Given the description of an element on the screen output the (x, y) to click on. 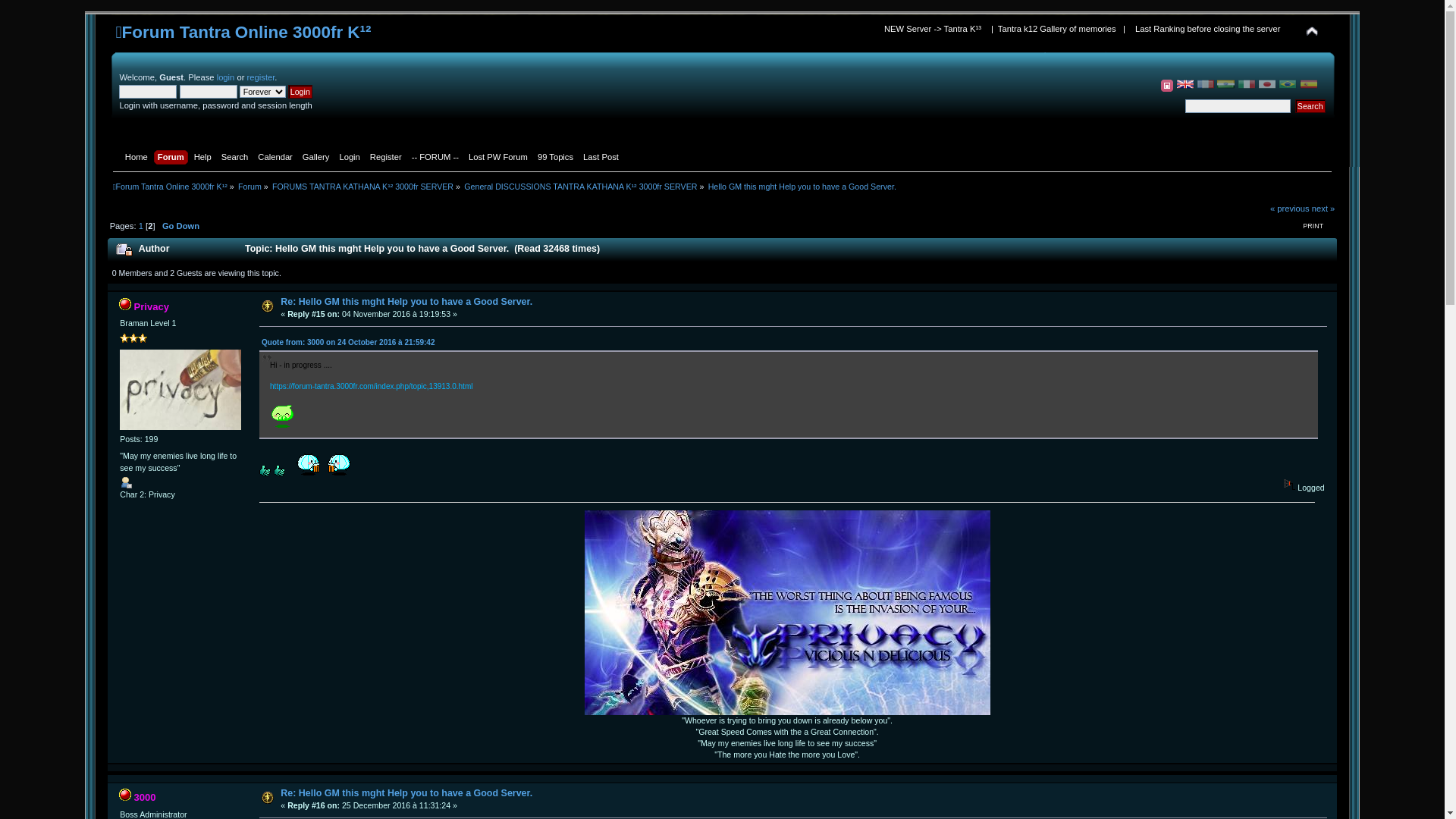
Japanese-utf8 Element type: text (1267, 84)
Calendar Element type: text (276, 158)
|  Tantra k12 Gallery of memories   | Element type: text (1060, 29)
Forum Element type: text (172, 158)
YES ~ OK  Element type: hover (279, 470)
99 Topics Element type: text (557, 158)
Lost PW Forum Element type: text (499, 158)
Indonesian-utf8 Element type: text (1226, 84)
Search Element type: text (1310, 105)
3000 Element type: text (144, 797)
1 Element type: text (140, 225)
Privacy Element type: text (151, 306)
Shrink or expand the header. Element type: hover (1311, 31)
Re: Hello GM this mght Help you to have a Good Server. Element type: text (406, 301)
register Element type: text (261, 76)
Portuguese Brazilian-utf8 Element type: text (1287, 84)
Italian-utf8 Element type: text (1246, 84)
French-utf8 Element type: text (1205, 84)
YES ~ OK  Element type: hover (264, 470)
PRINT Element type: text (1312, 226)
Re: Hello GM this mght Help you to have a Good Server. Element type: text (406, 792)
View Profile Element type: hover (125, 482)
login Element type: text (225, 76)
https://forum-tantra.3000fr.com/index.php/topic,13913.0.html Element type: text (370, 386)
Last Post Element type: text (602, 158)
Search Element type: text (236, 158)
-- FORUM -- Element type: text (436, 158)
Last Ranking before closing the server Element type: text (1209, 29)
Help Element type: text (204, 158)
Login Element type: text (300, 91)
Hello GM this mght Help you to have a Good Server. Element type: text (802, 186)
Register Element type: text (387, 158)
Go Down Element type: text (180, 225)
Home Element type: text (138, 158)
Spanish Es-utf8 Element type: text (1308, 84)
Thanks Merci Thx Element type: hover (281, 415)
English Element type: text (1185, 84)
Gallery Element type: text (317, 158)
Login Element type: text (350, 158)
Forum Element type: text (249, 186)
